Given the description of an element on the screen output the (x, y) to click on. 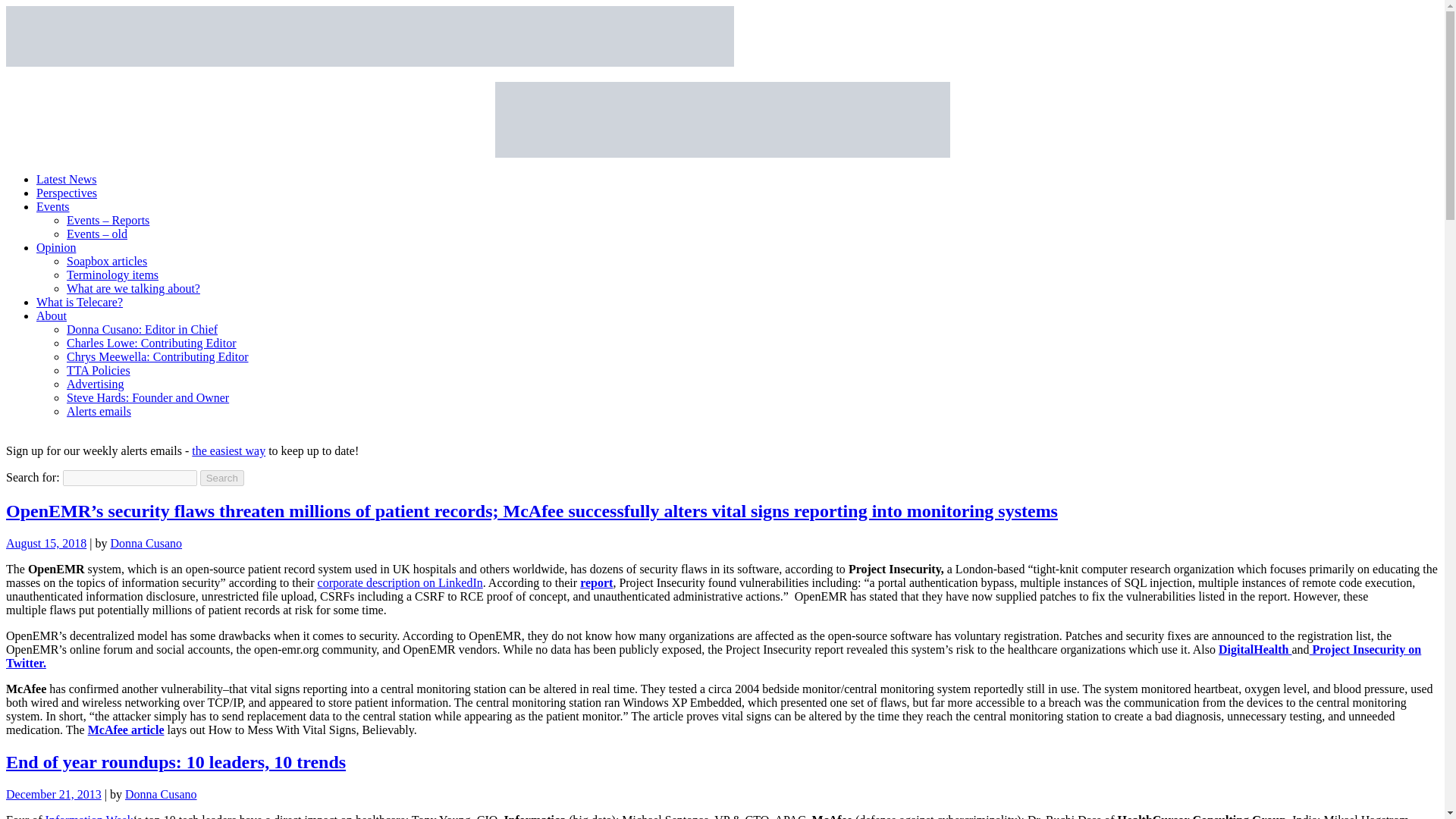
TTA Policies (98, 369)
Steve Hards: Founder and Owner (147, 397)
Latest News (66, 178)
Terminology items (112, 274)
Events (52, 205)
Opinion (55, 246)
What is Telecare? (79, 301)
Soapbox articles (106, 260)
What are we talking about? (133, 287)
Perspectives (66, 192)
Charles Lowe: Contributing Editor (150, 342)
End of year roundups: 10 leaders, 10 trends (175, 762)
Search (222, 478)
Chrys Meewella: Contributing Editor (157, 356)
Donna Cusano: Editor in Chief (141, 328)
